Given the description of an element on the screen output the (x, y) to click on. 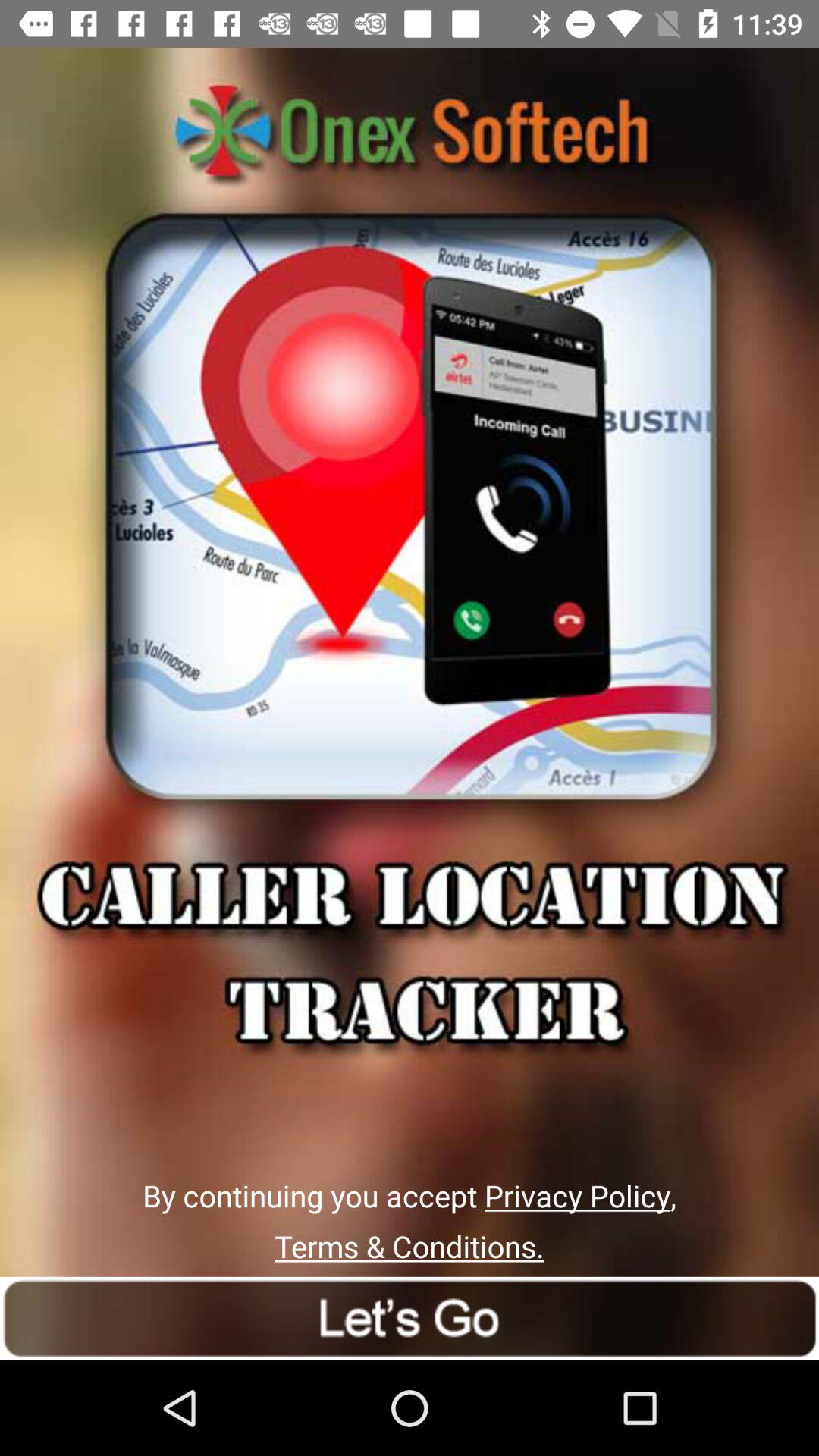
click to go option (409, 1318)
